Given the description of an element on the screen output the (x, y) to click on. 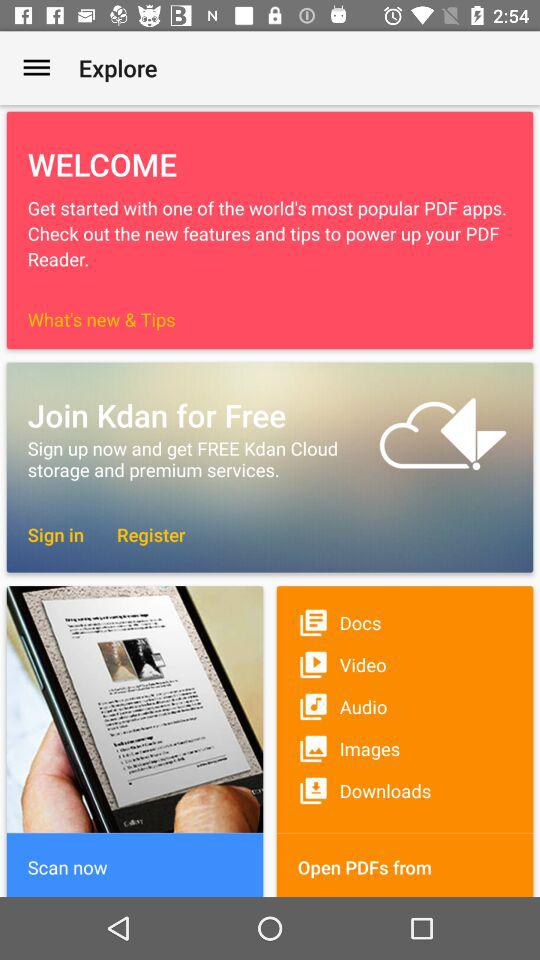
jump until the downloads item (404, 790)
